Given the description of an element on the screen output the (x, y) to click on. 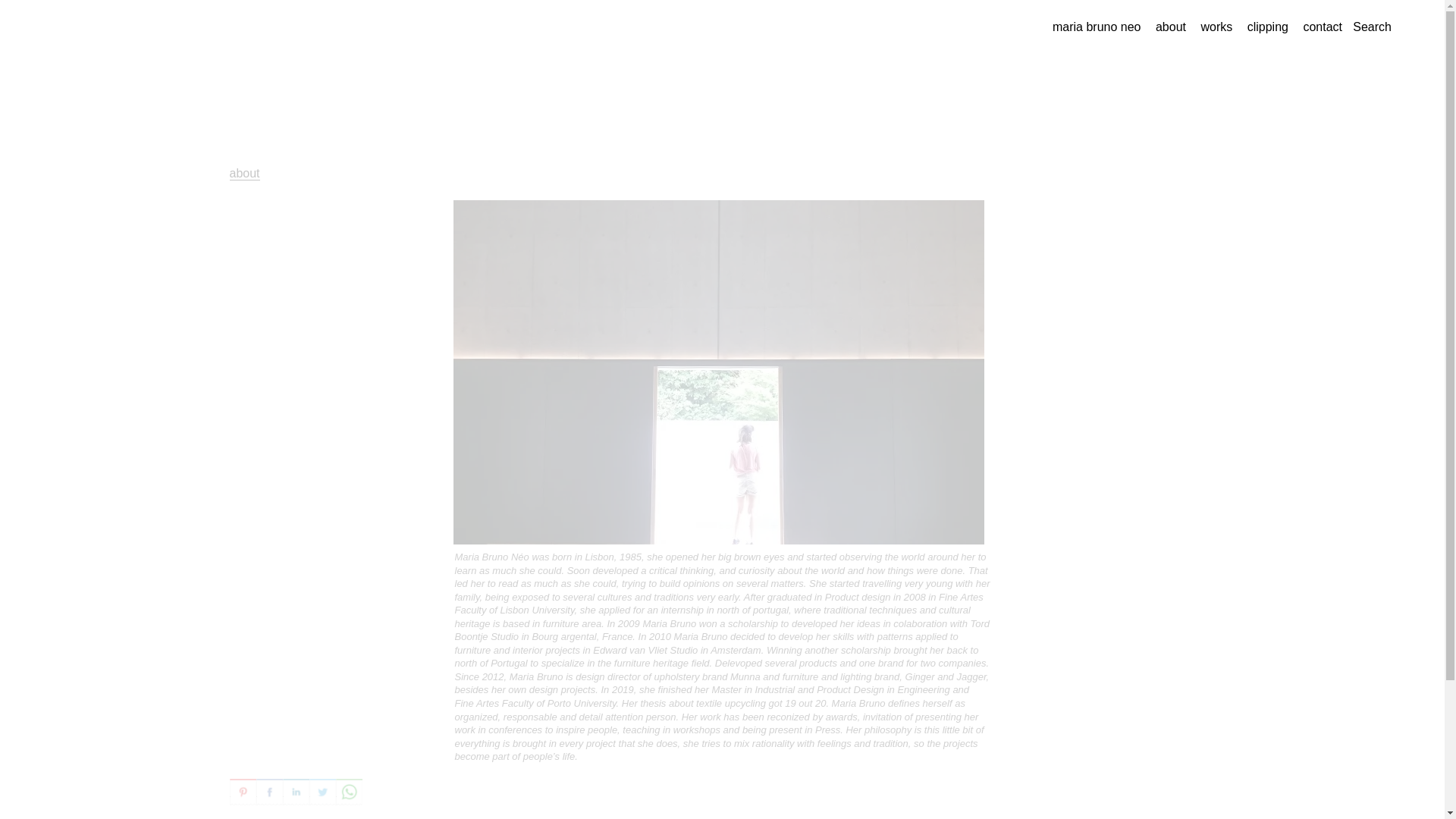
contact (1322, 27)
maria bruno neo (1096, 27)
about (1171, 27)
works (1215, 27)
facebook (269, 791)
linkedin (295, 791)
twitter (322, 791)
pinterest (242, 791)
about (243, 173)
clipping (1267, 27)
